Given the description of an element on the screen output the (x, y) to click on. 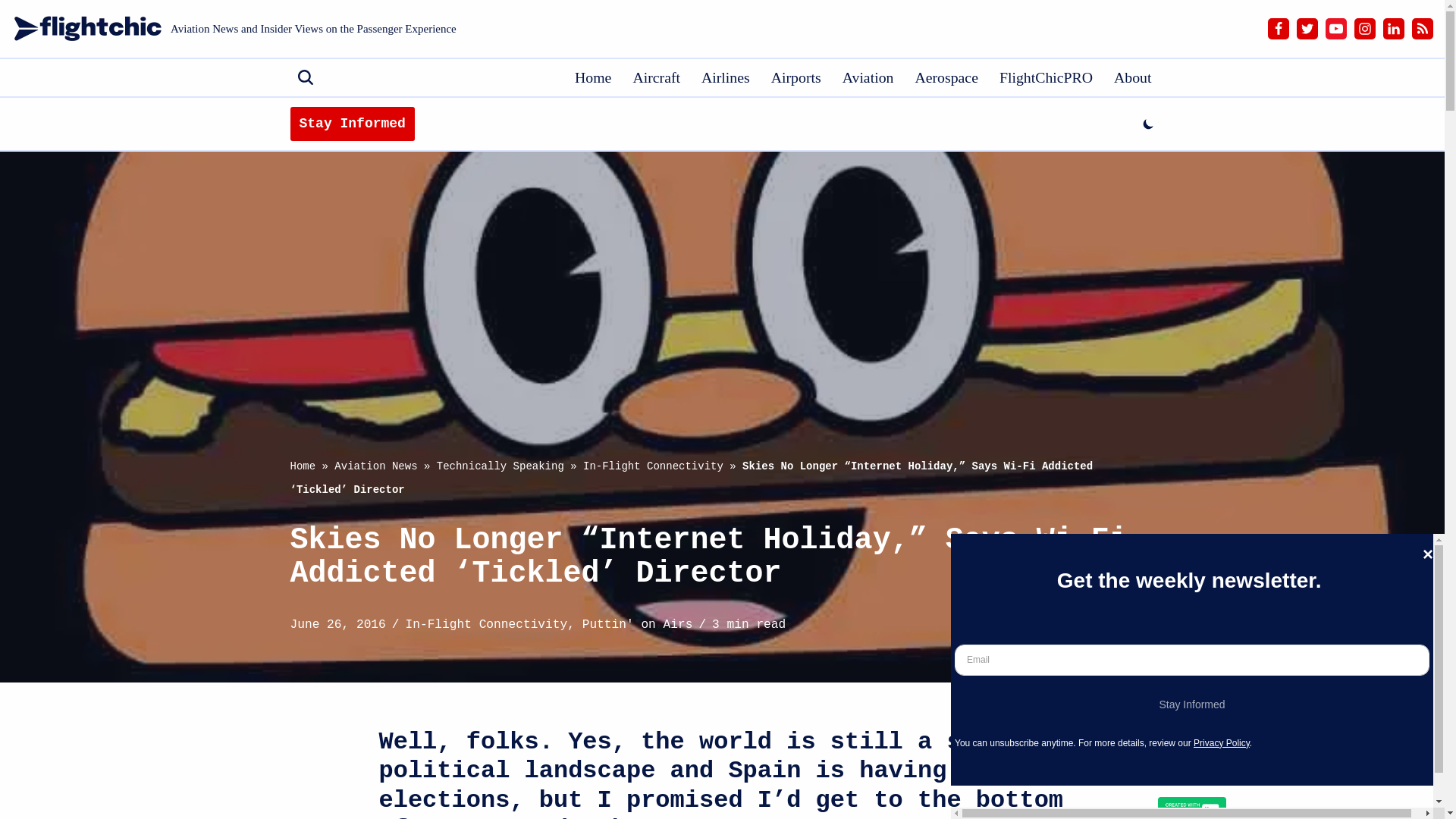
LinkedIn (1394, 28)
About (1132, 77)
Instagram (1364, 28)
Aerospace (945, 77)
Skip to content (11, 31)
Home (593, 77)
Aviation News (375, 466)
Home (302, 466)
In-Flight Connectivity (653, 466)
Aviation (868, 77)
Youtube (1335, 28)
Airlines (725, 77)
Twitter (1307, 28)
Airports (796, 77)
Stay Informed (351, 123)
